Given the description of an element on the screen output the (x, y) to click on. 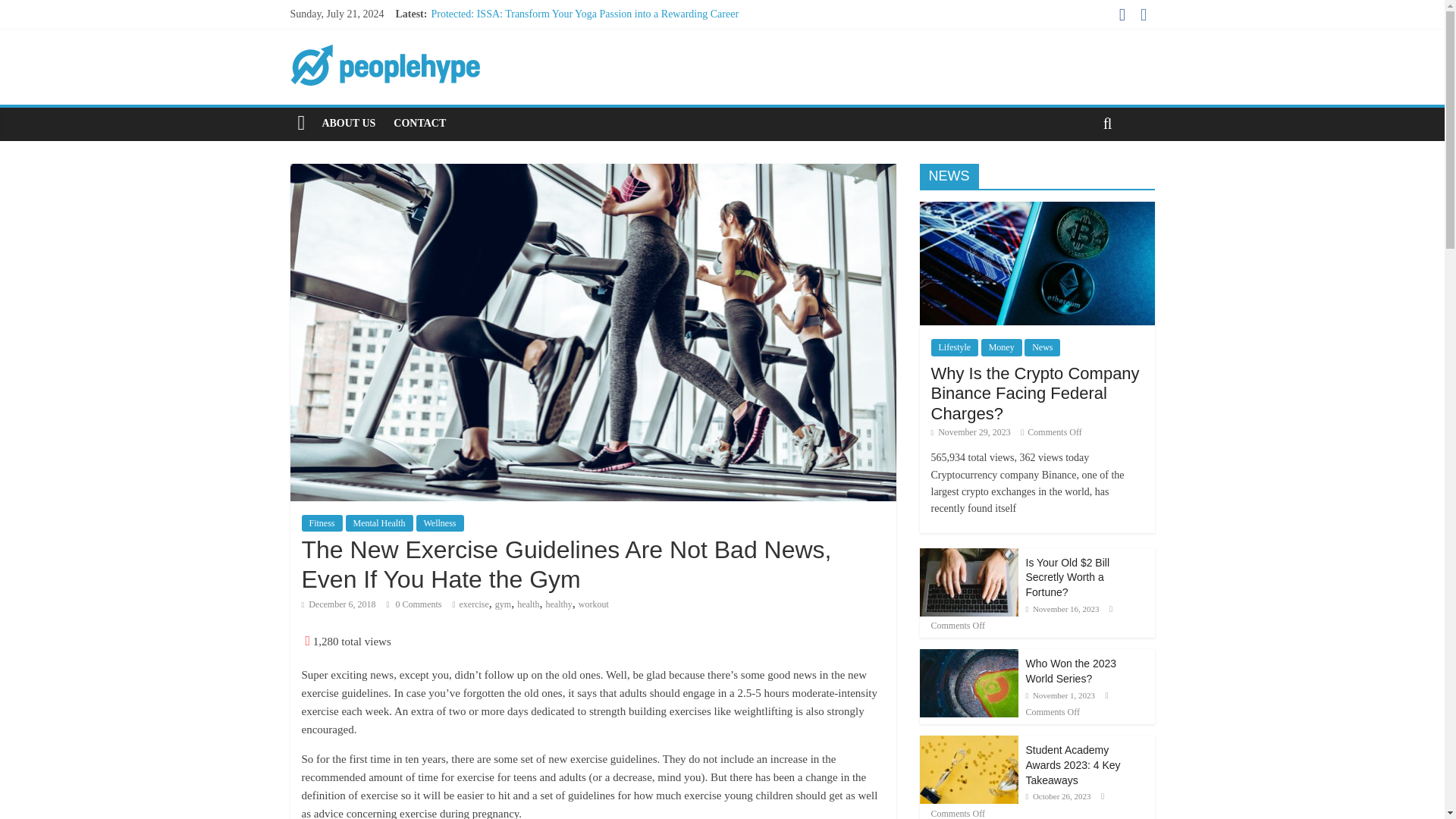
3:10 pm (970, 431)
Lifestyle (954, 347)
Why Is the Crypto Company Binance Facing Federal Charges? (1035, 393)
Why Is the Crypto Company Binance Facing Federal Charges? (1036, 209)
Fitness (321, 523)
Wellness (438, 523)
CONTACT (419, 123)
1:15 pm (338, 603)
gym (503, 603)
News (1042, 347)
December 6, 2018 (338, 603)
November 29, 2023 (970, 431)
0 Comments (413, 603)
Why Is the Crypto Company Binance Facing Federal Charges? (1035, 393)
healthy (559, 603)
